Given the description of an element on the screen output the (x, y) to click on. 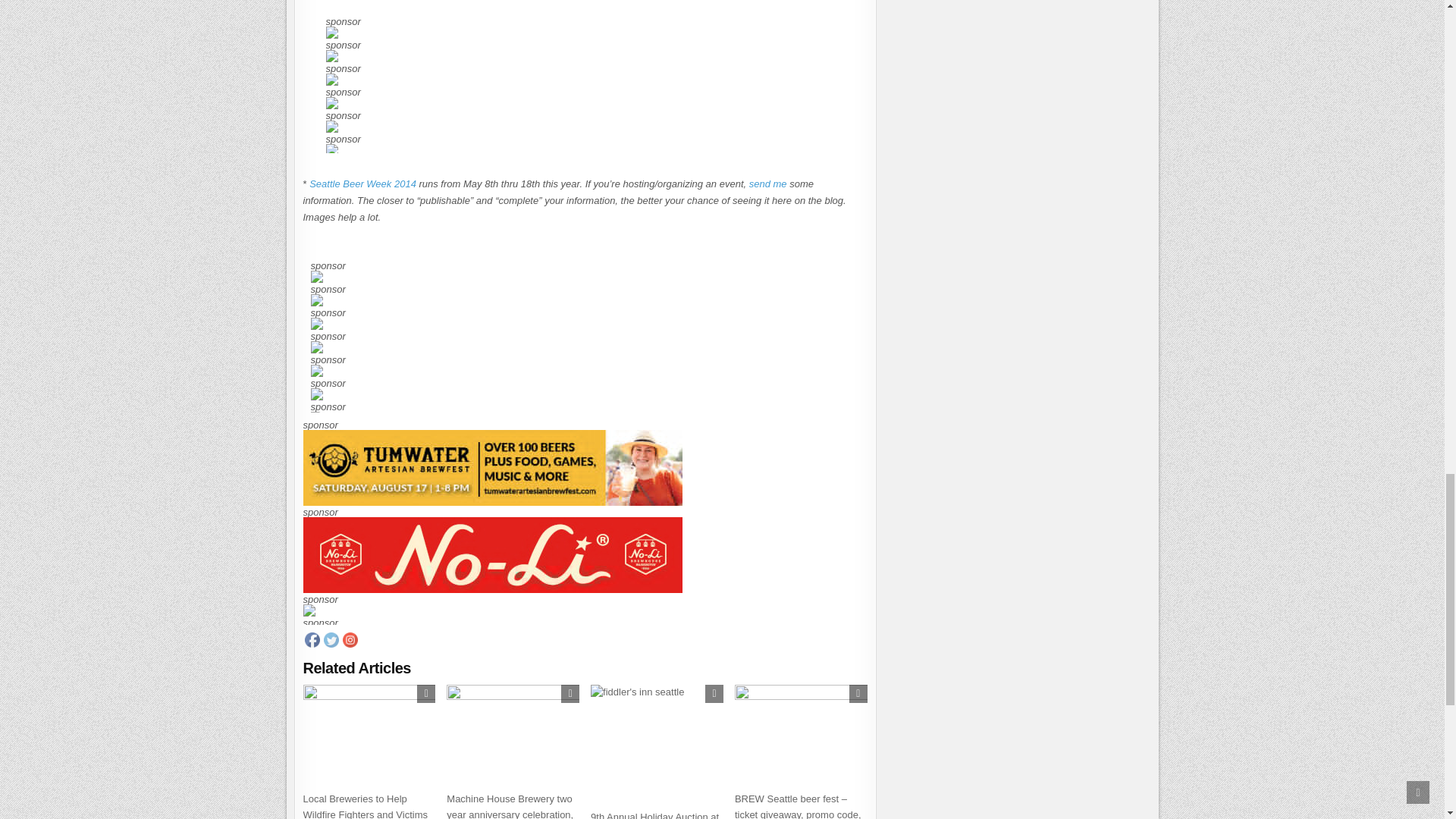
seattle beer week (362, 183)
